Given the description of an element on the screen output the (x, y) to click on. 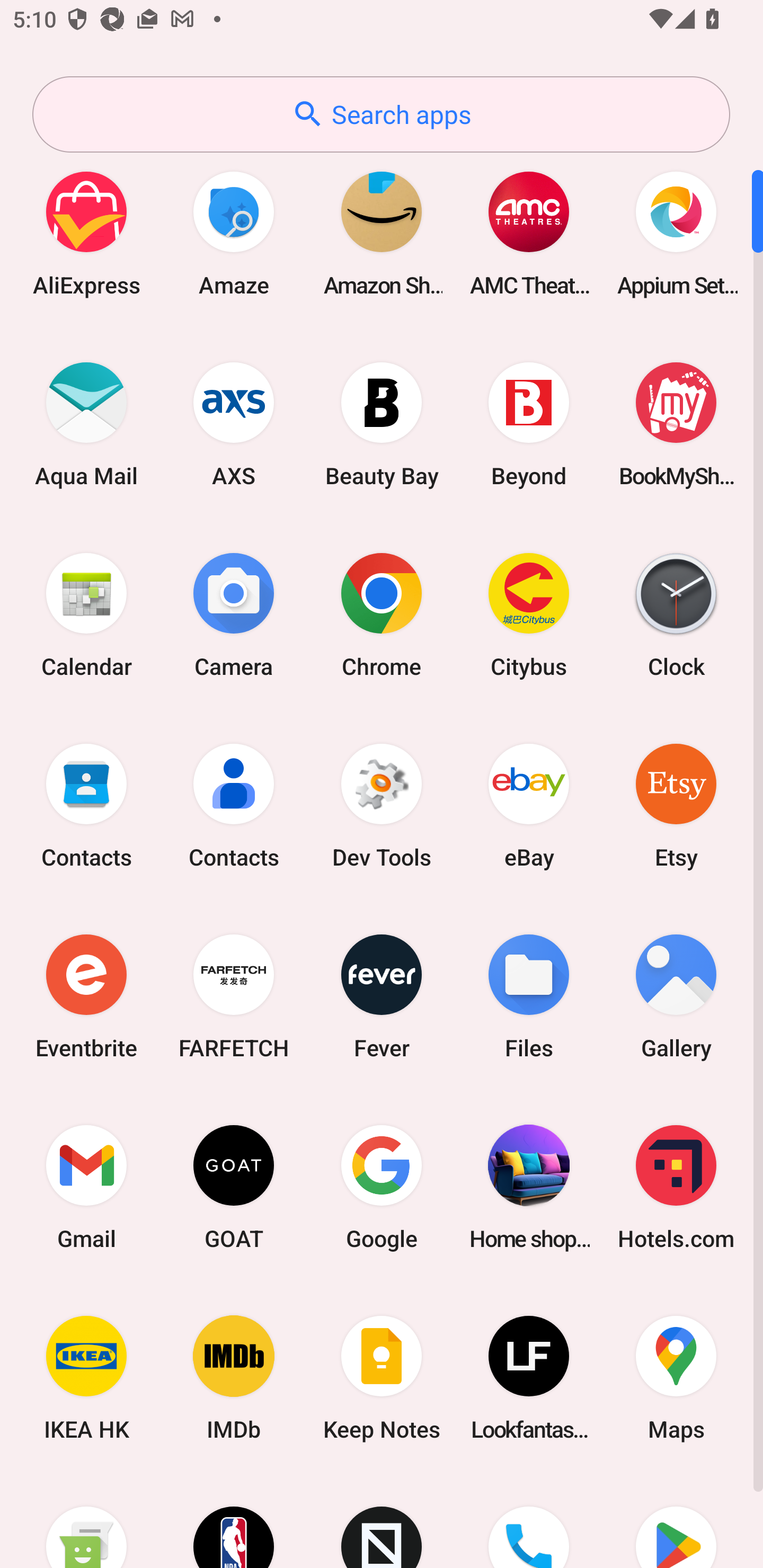
  Search apps (381, 114)
AliExpress (86, 233)
Amaze (233, 233)
Amazon Shopping (381, 233)
AMC Theatres (528, 233)
Appium Settings (676, 233)
Aqua Mail (86, 424)
AXS (233, 424)
Beauty Bay (381, 424)
Beyond (528, 424)
BookMyShow (676, 424)
Calendar (86, 614)
Camera (233, 614)
Chrome (381, 614)
Citybus (528, 614)
Clock (676, 614)
Contacts (86, 805)
Contacts (233, 805)
Dev Tools (381, 805)
eBay (528, 805)
Etsy (676, 805)
Eventbrite (86, 996)
FARFETCH (233, 996)
Fever (381, 996)
Files (528, 996)
Gallery (676, 996)
Gmail (86, 1186)
GOAT (233, 1186)
Google (381, 1186)
Home shopping (528, 1186)
Hotels.com (676, 1186)
IKEA HK (86, 1377)
IMDb (233, 1377)
Keep Notes (381, 1377)
Lookfantastic (528, 1377)
Maps (676, 1377)
Messaging (86, 1520)
NBA (233, 1520)
Novelship (381, 1520)
Phone (528, 1520)
Play Store (676, 1520)
